Given the description of an element on the screen output the (x, y) to click on. 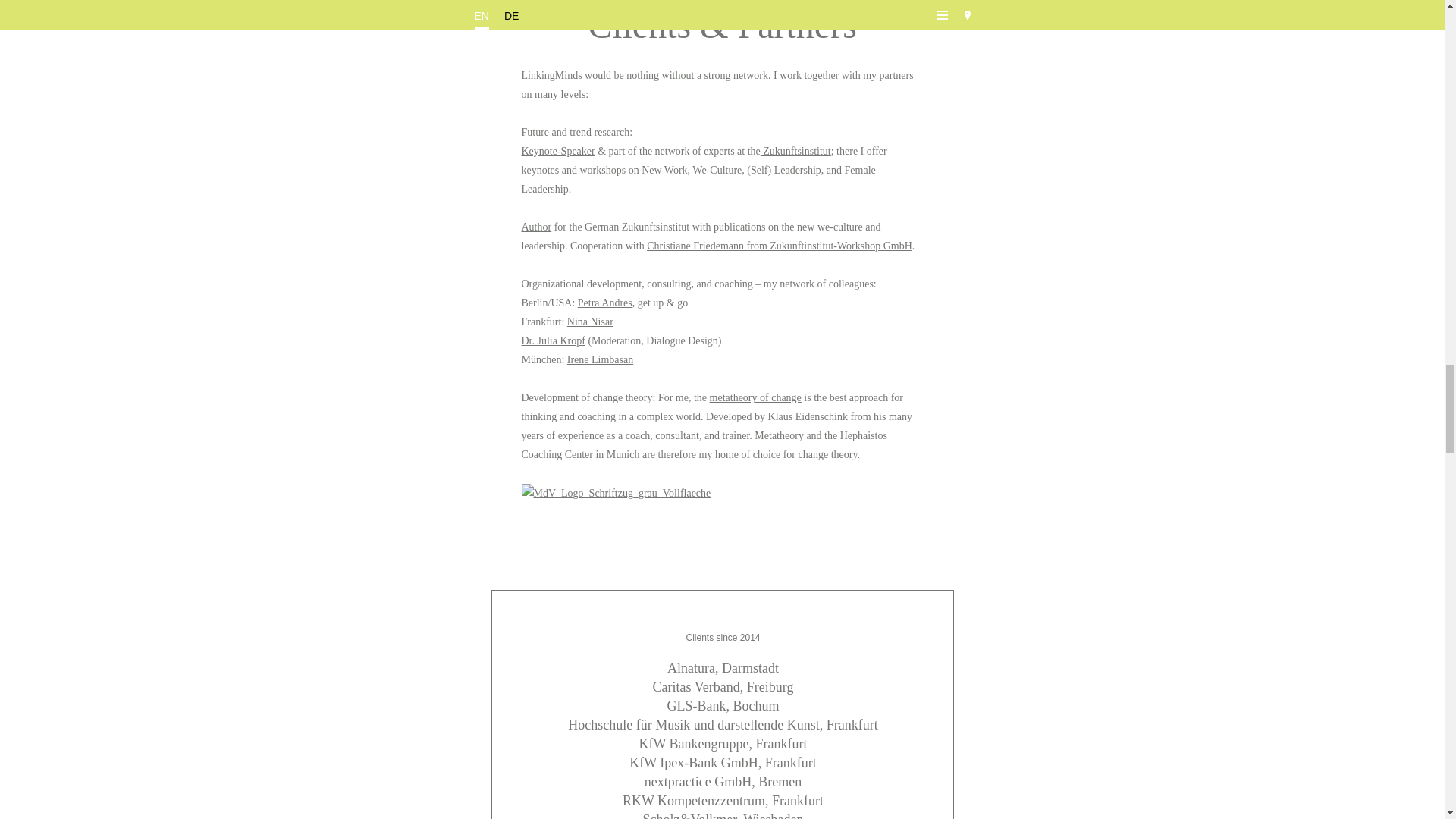
Petra Andres (604, 302)
Keynote-Speaker (558, 151)
Author (536, 226)
Nina Nisar (589, 321)
Zukunftsinstitut (795, 151)
Christiane Friedemann from Zukunftinstitut-Workshop GmbH (779, 245)
